Given the description of an element on the screen output the (x, y) to click on. 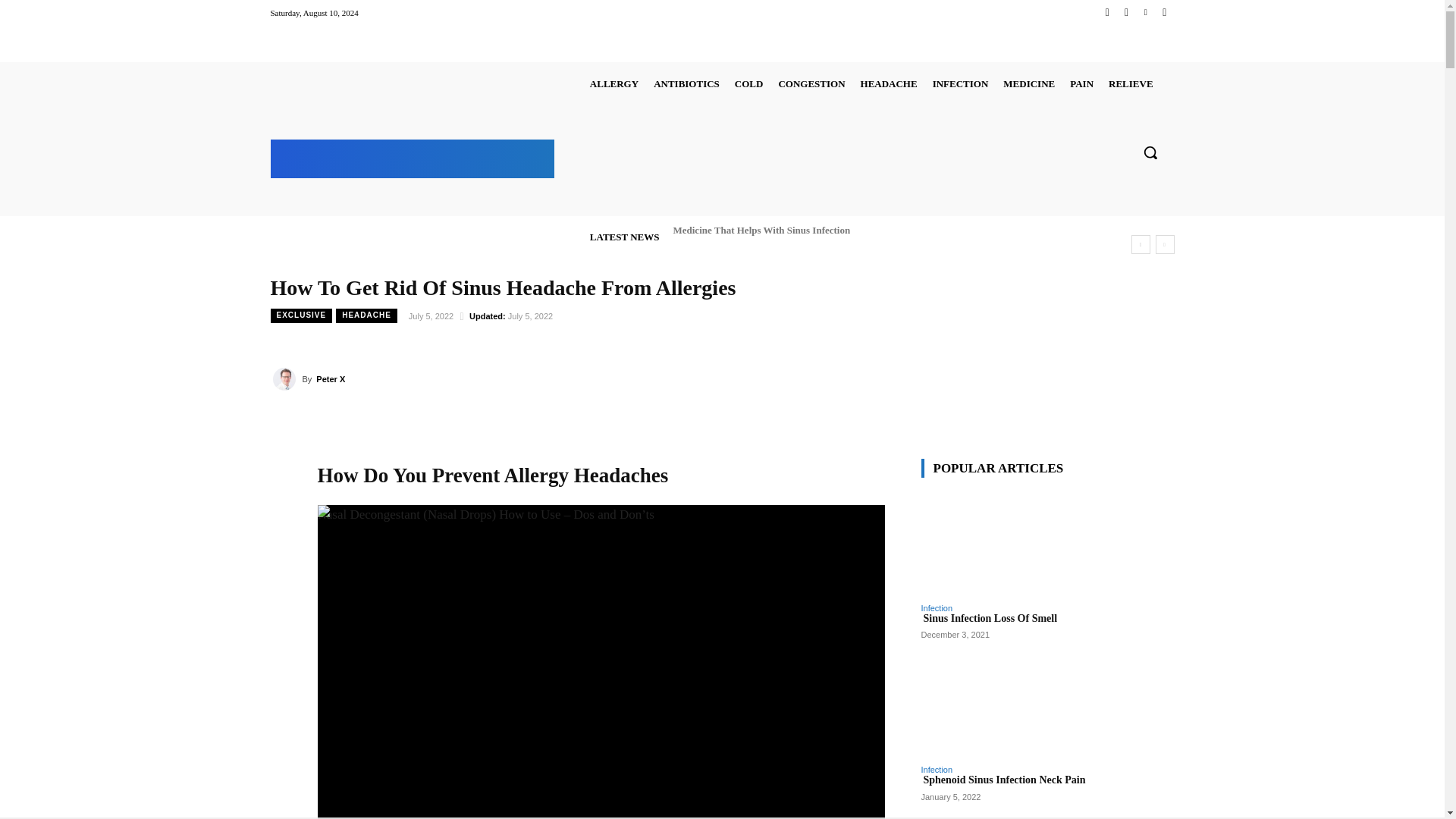
ANTIBIOTICS (686, 83)
Facebook (1106, 12)
ALLERGY (614, 83)
HEALTHY SINUS (412, 156)
